Given the description of an element on the screen output the (x, y) to click on. 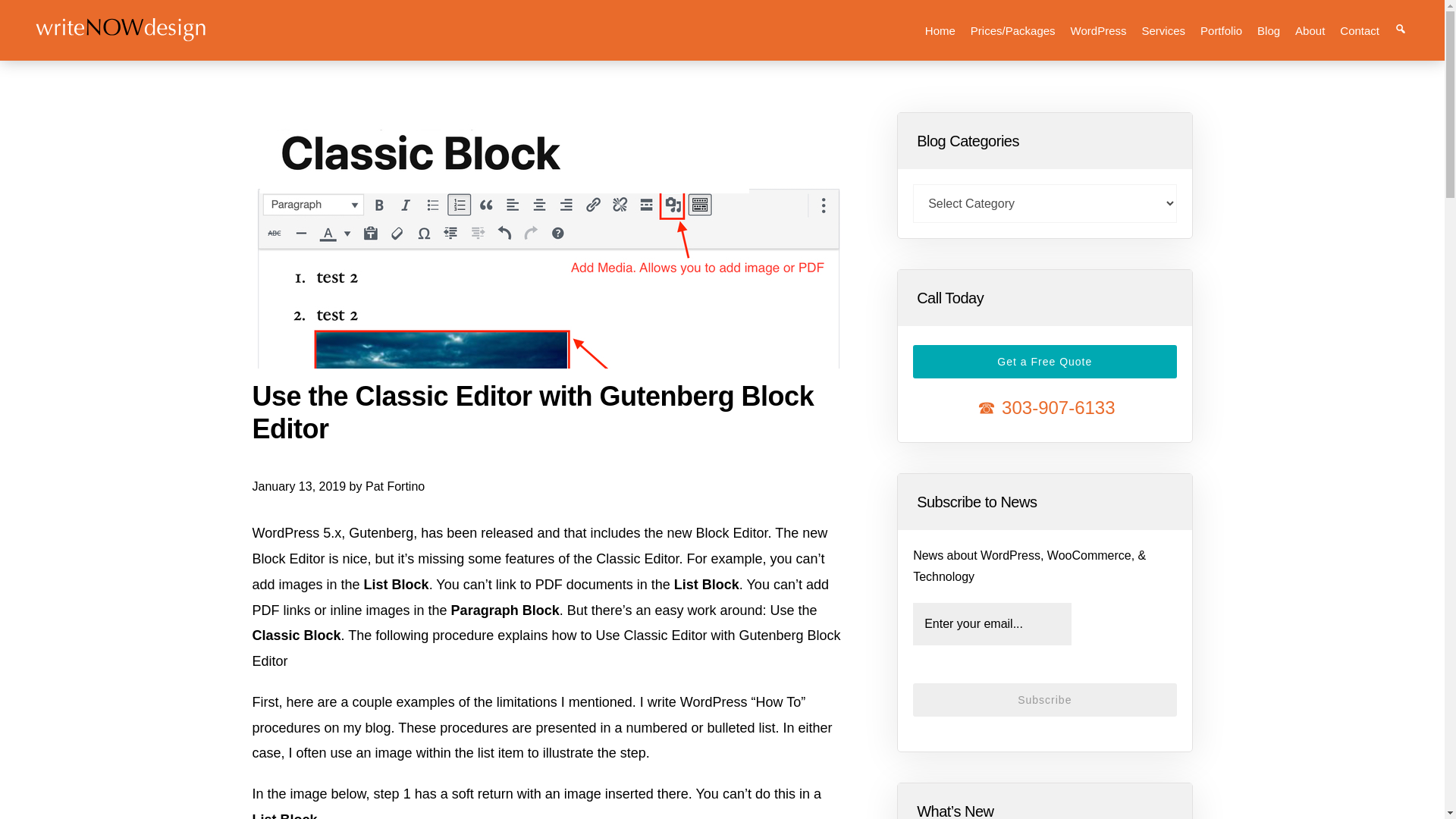
Blog (1268, 30)
Get a Free Quote (1044, 361)
Subscribe (1044, 699)
Contact (1359, 30)
WordPress (1098, 30)
Services (1163, 30)
Portfolio (1220, 30)
303-907-6133 (1044, 407)
About (1309, 30)
WriteNowDesign - Wordpress and Ecommerce Website Design (121, 37)
